Given the description of an element on the screen output the (x, y) to click on. 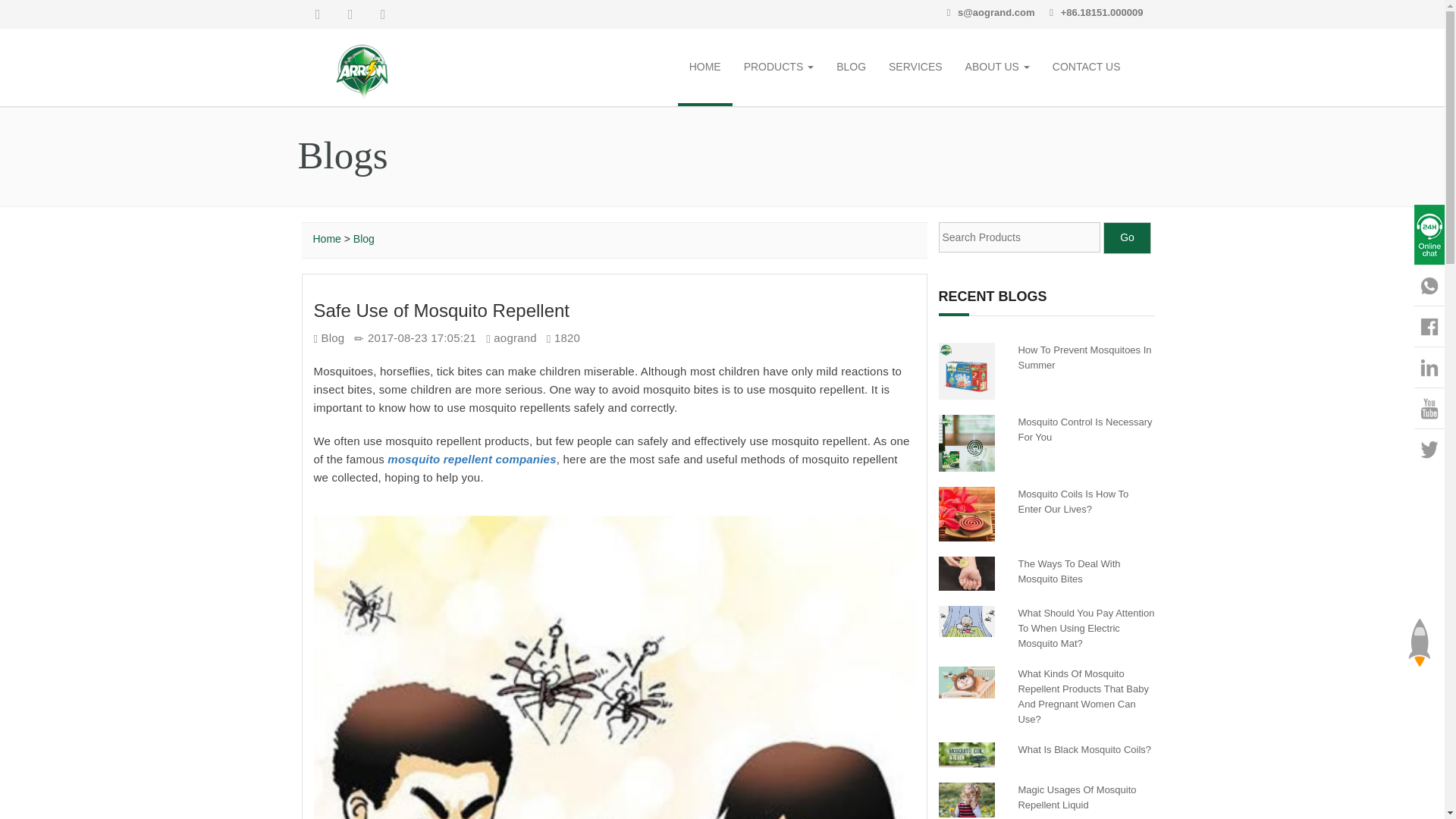
CONTACT US (1086, 68)
How to prevent mosquitoes in summer (967, 371)
What Is Black Mosquito Coils? (1084, 749)
Mosquito Coils is How to Enter Our Lives? (1072, 501)
Go (1127, 237)
Go (1127, 237)
Magic Usages of Mosquito Repellent Liquid (1076, 796)
ABOUT US (997, 68)
PRODUCTS (778, 68)
mosquito repellent companies (471, 459)
The Ways to Deal With Mosquito Bites (1068, 570)
How to prevent mosquitoes in summer (1084, 357)
Mosquito Control Is Necessary for You (1084, 429)
